Given the description of an element on the screen output the (x, y) to click on. 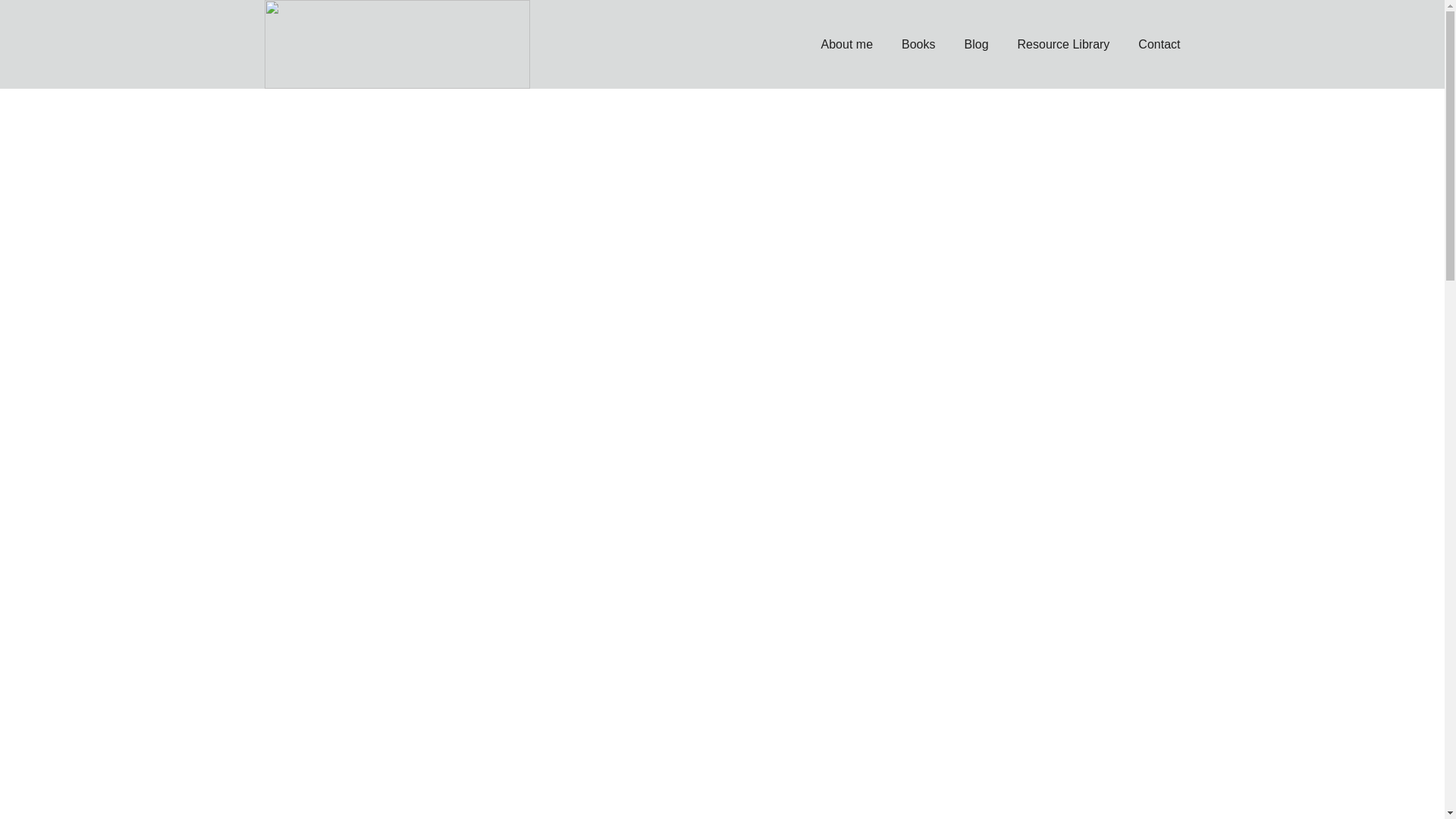
Blog (975, 44)
About me (846, 44)
Books (917, 44)
Contact (1158, 44)
Resource Library (1063, 44)
